Given the description of an element on the screen output the (x, y) to click on. 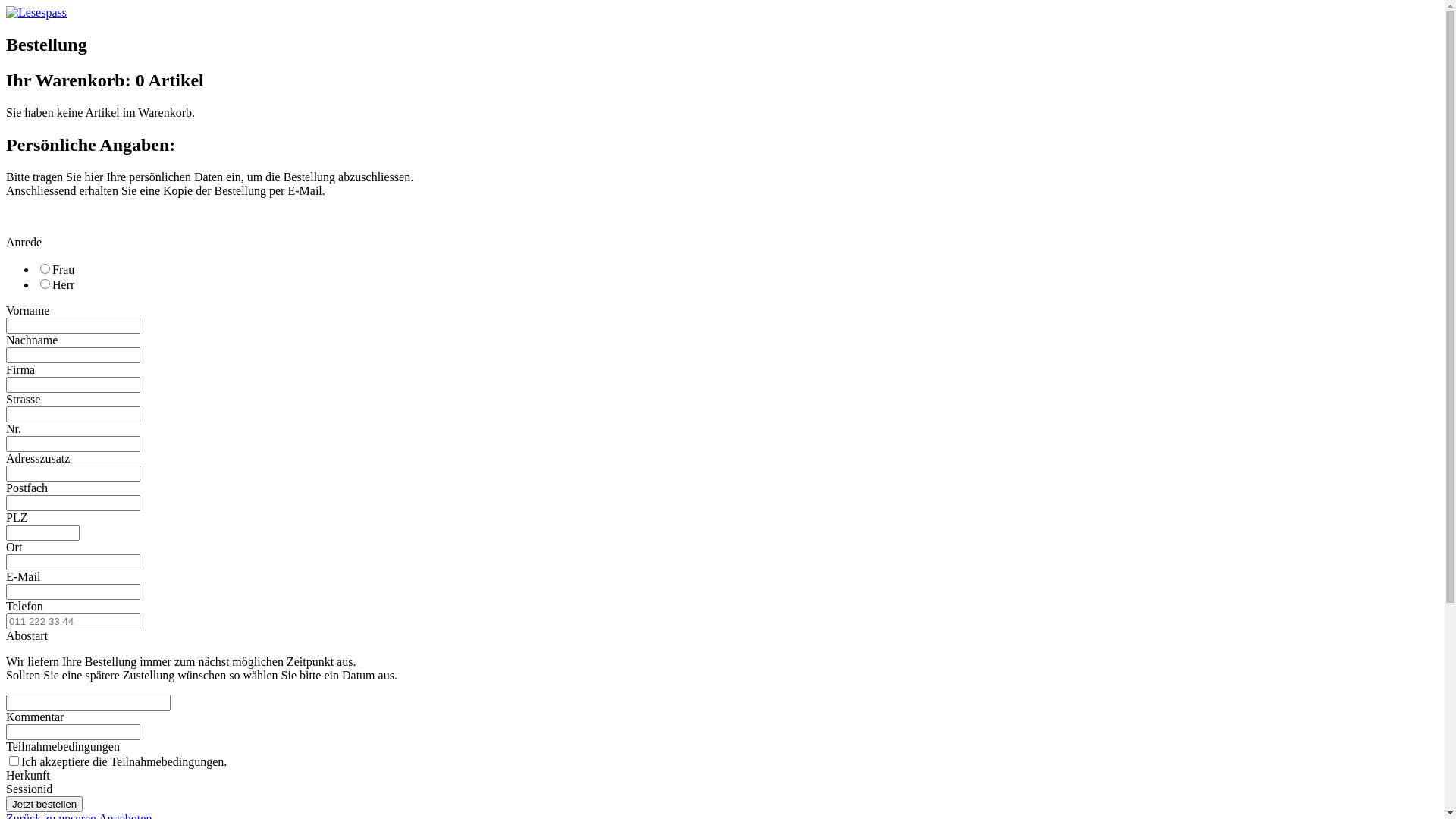
Jetzt bestellen Element type: text (44, 804)
